Given the description of an element on the screen output the (x, y) to click on. 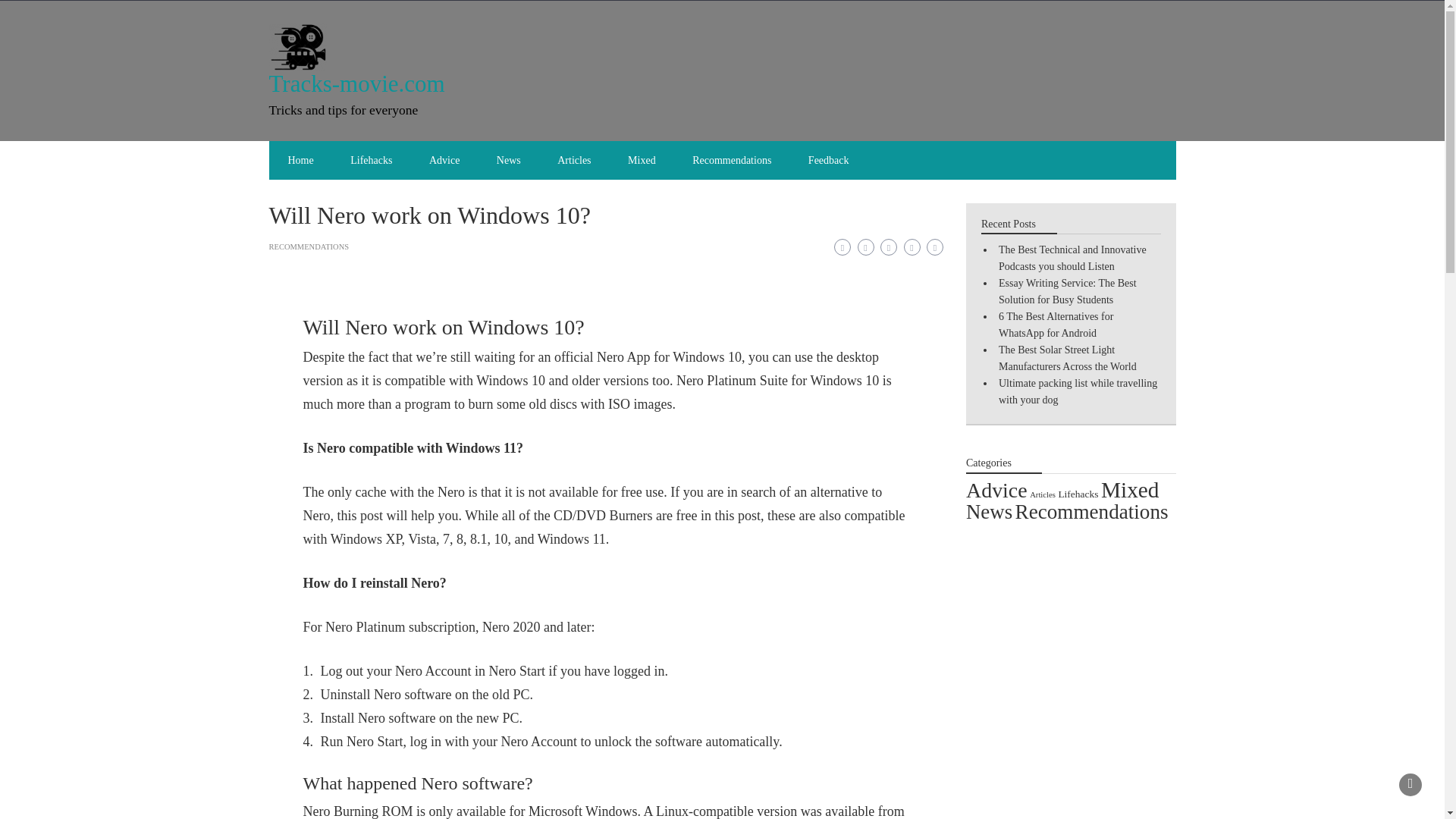
Advice (443, 159)
Lifehacks (1077, 493)
Lifehacks (370, 159)
Recommendations (731, 159)
The Best Solar Street Light Manufacturers Across the World (1067, 357)
Home (301, 159)
RECOMMENDATIONS (308, 246)
6 The Best Alternatives for WhatsApp for Android (1055, 325)
Mixed (1129, 489)
Tracks-movie.com (355, 83)
Mixed (641, 159)
Feedback (828, 159)
Advice (996, 490)
News (508, 159)
The Best Technical and Innovative Podcasts you should Listen (1072, 257)
